Given the description of an element on the screen output the (x, y) to click on. 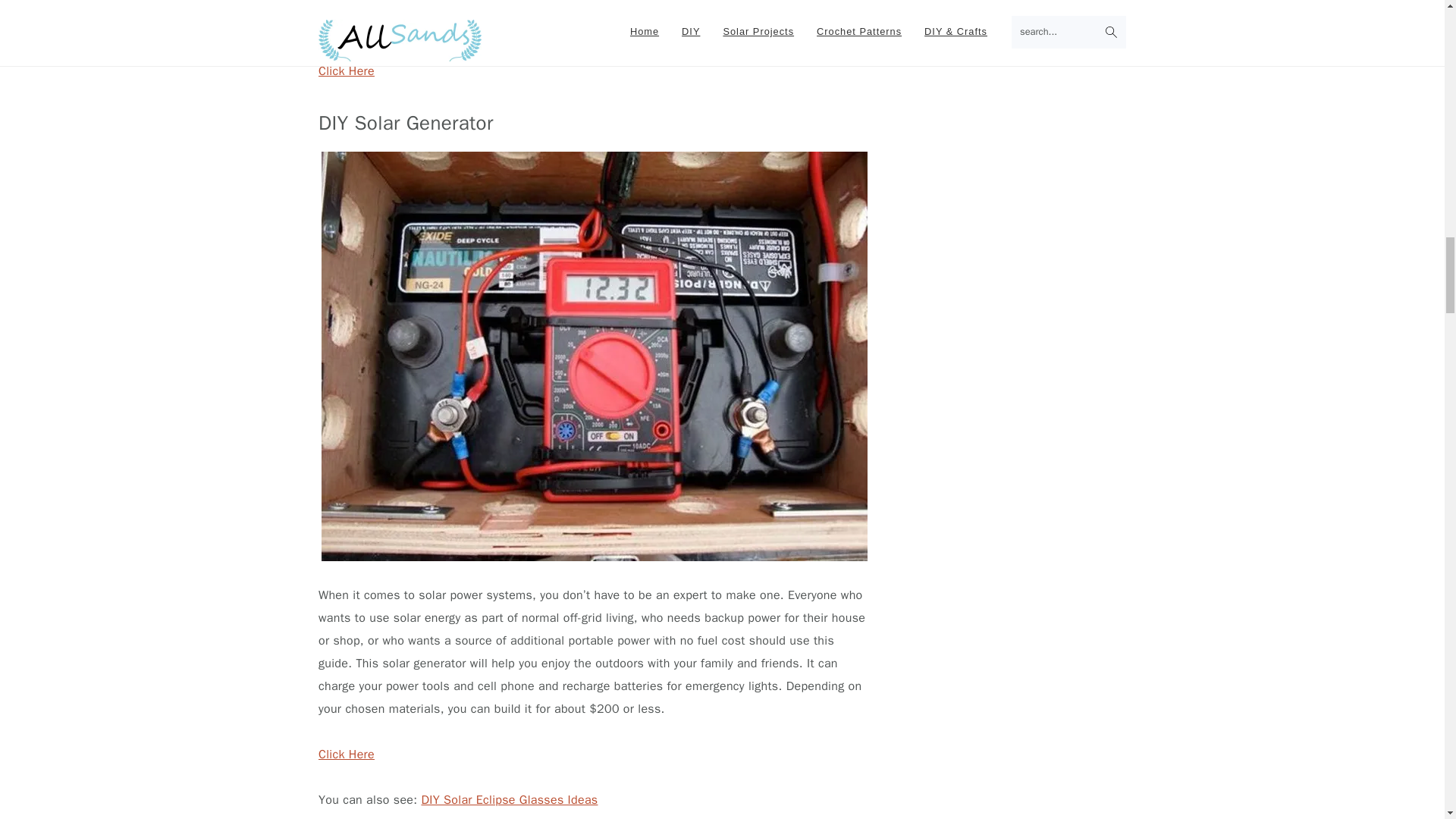
Click Here (346, 70)
DIY Solar Eclipse Glasses Ideas (508, 799)
Click Here (346, 754)
